Given the description of an element on the screen output the (x, y) to click on. 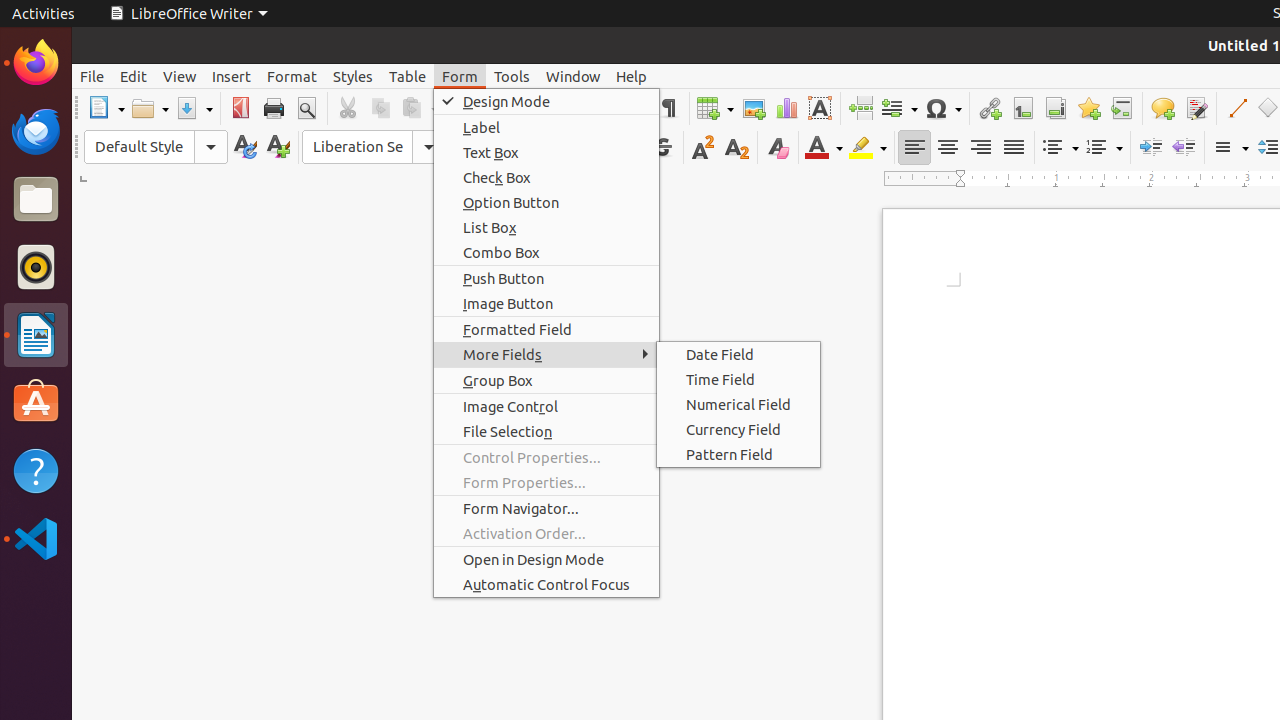
Image Element type: push-button (753, 108)
Strikethrough Element type: toggle-button (662, 147)
File Element type: menu (92, 76)
Push Button Element type: check-menu-item (546, 278)
Underline Element type: push-button (629, 147)
